Given the description of an element on the screen output the (x, y) to click on. 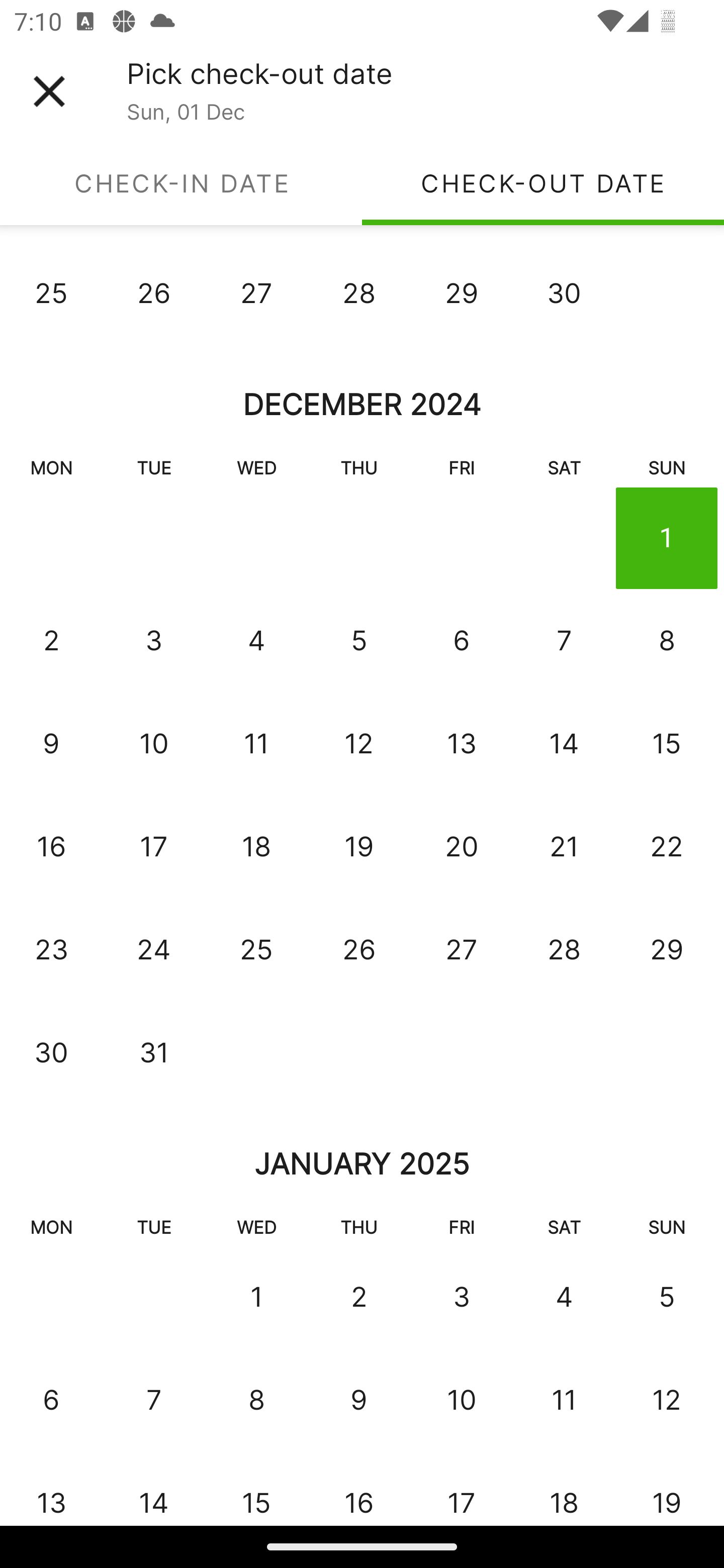
Check-in Date CHECK-IN DATE (181, 183)
